Given the description of an element on the screen output the (x, y) to click on. 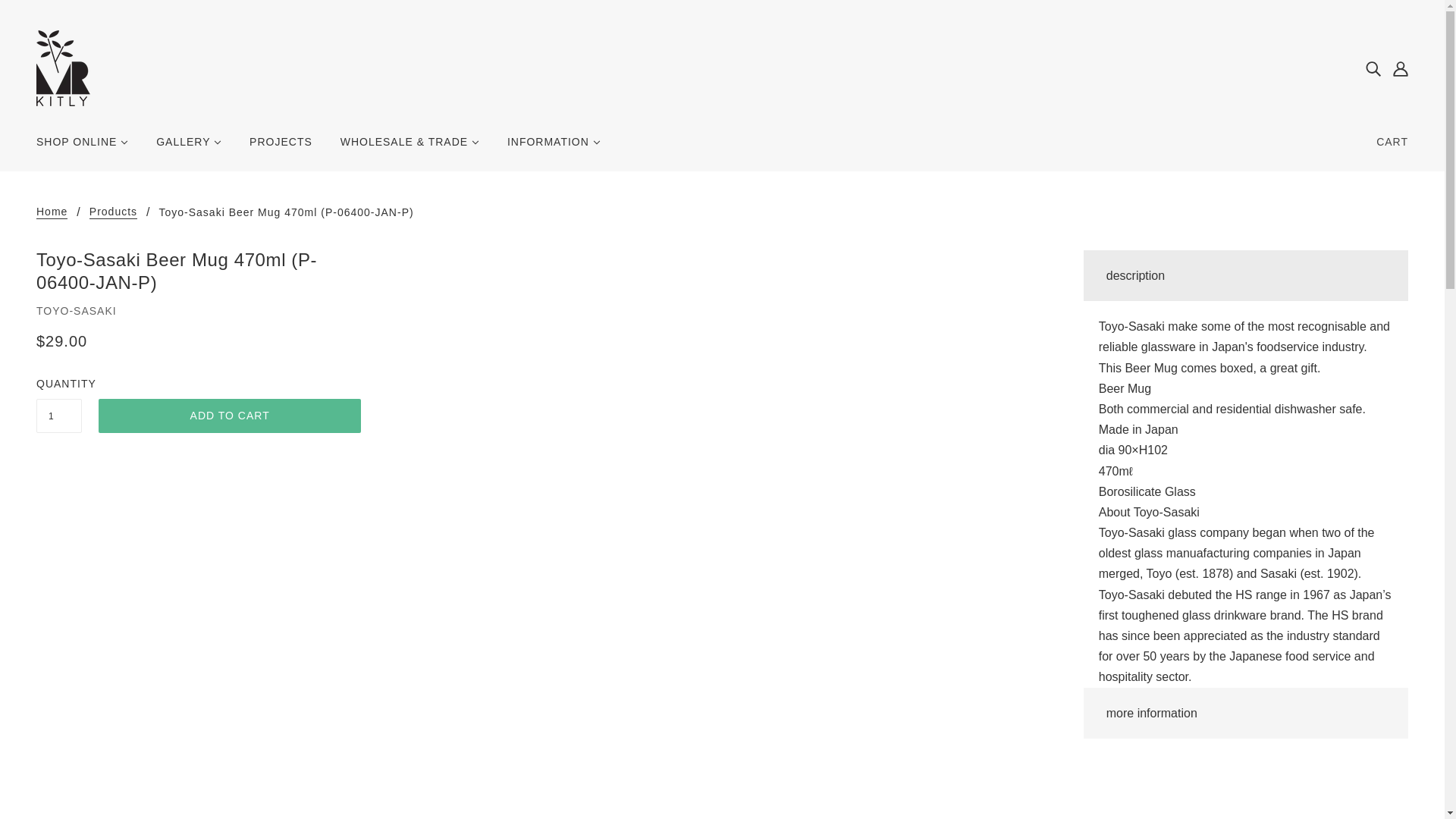
1 (58, 415)
Page 135 (1246, 347)
Mr Kitly (63, 66)
